Given the description of an element on the screen output the (x, y) to click on. 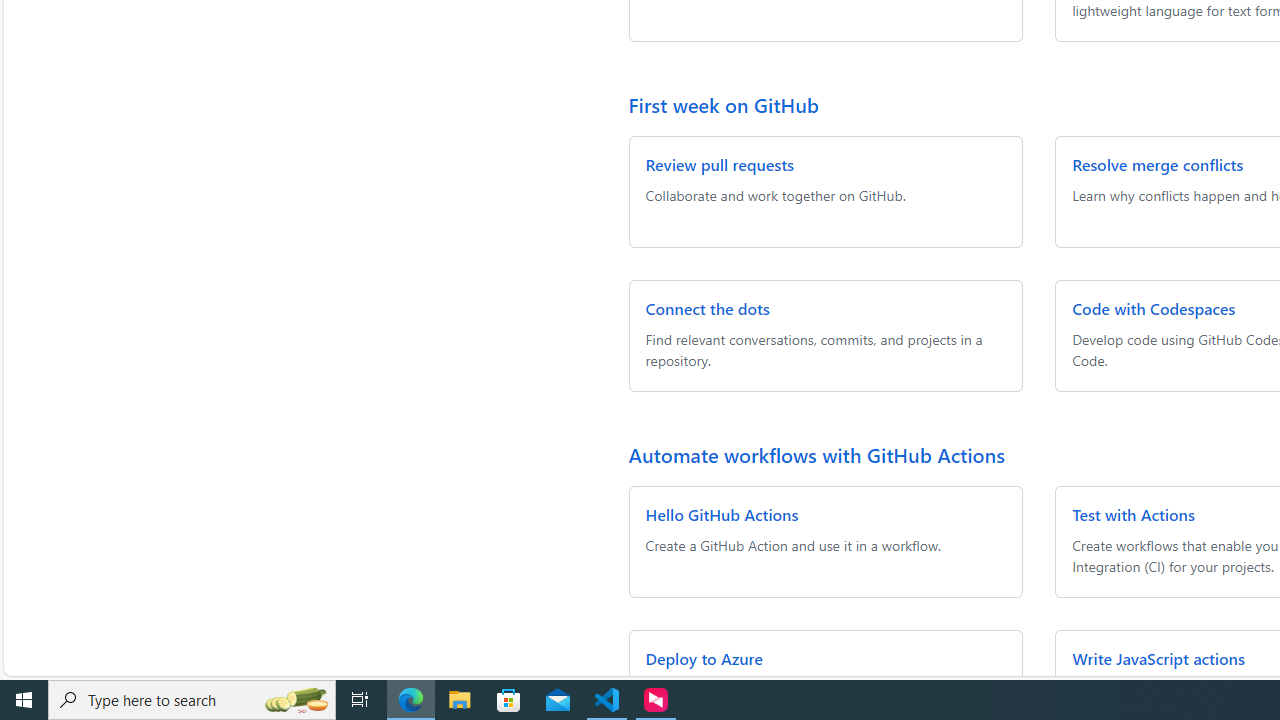
Hello GitHub Actions (721, 513)
Test with Actions (1133, 513)
Code with Codespaces (1154, 308)
Deploy to Azure (703, 658)
First week on GitHub (723, 104)
Resolve merge conflicts (1158, 164)
Connect the dots (707, 308)
Automate workflows with GitHub Actions (816, 454)
Write JavaScript actions (1158, 658)
Review pull requests (719, 164)
